Given the description of an element on the screen output the (x, y) to click on. 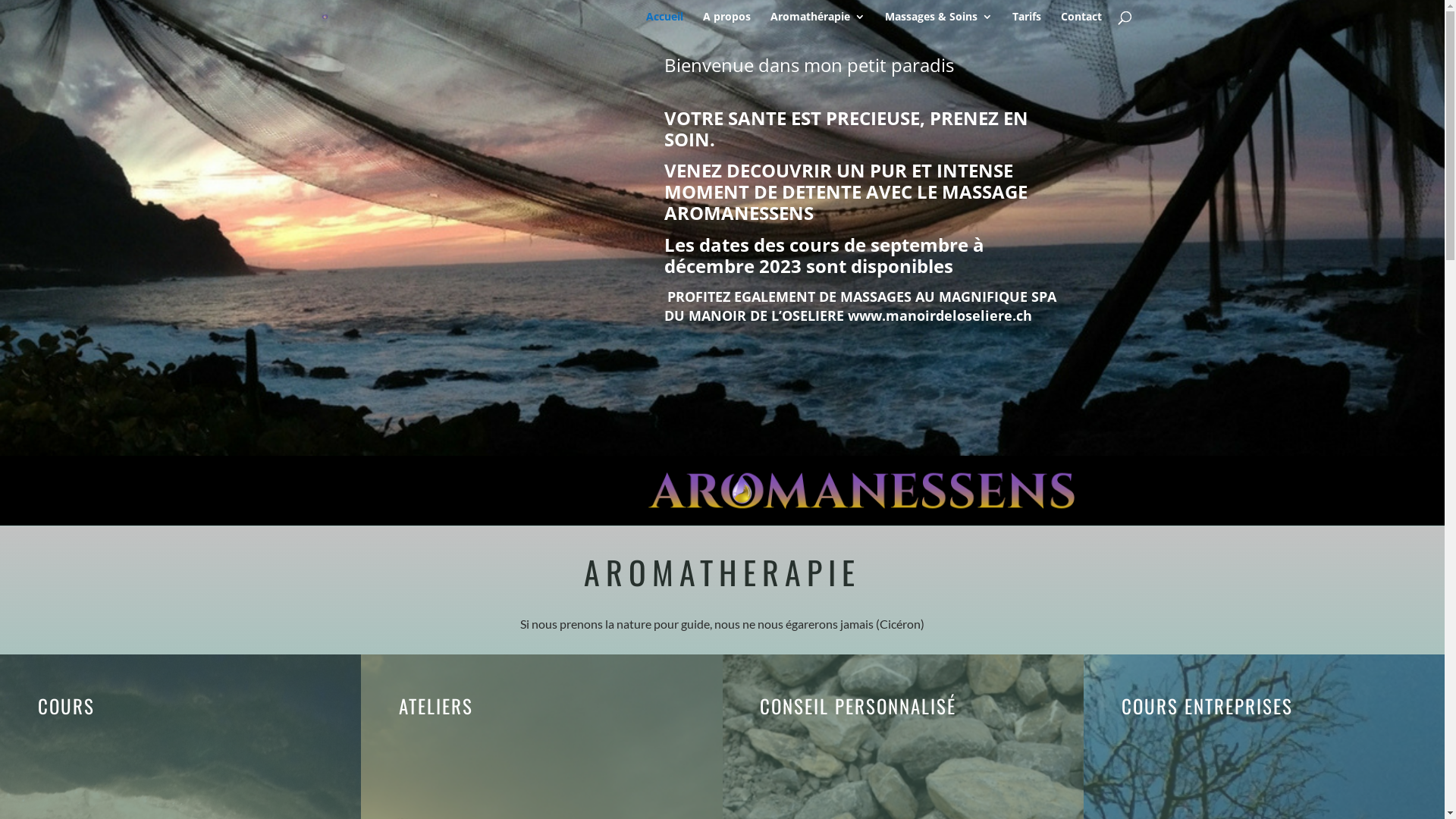
ATELIERS Element type: text (435, 705)
Bienvenue dans mon petit paradis Element type: text (860, 490)
Tarifs Element type: text (1025, 22)
www.manoirdeloseliere.ch Element type: text (939, 315)
COURS Element type: text (65, 705)
A propos Element type: text (725, 22)
Accueil Element type: text (664, 22)
Massages & Soins Element type: text (937, 22)
Contact Element type: text (1080, 22)
COURS ENTREPRISES Element type: text (1206, 705)
